Given the description of an element on the screen output the (x, y) to click on. 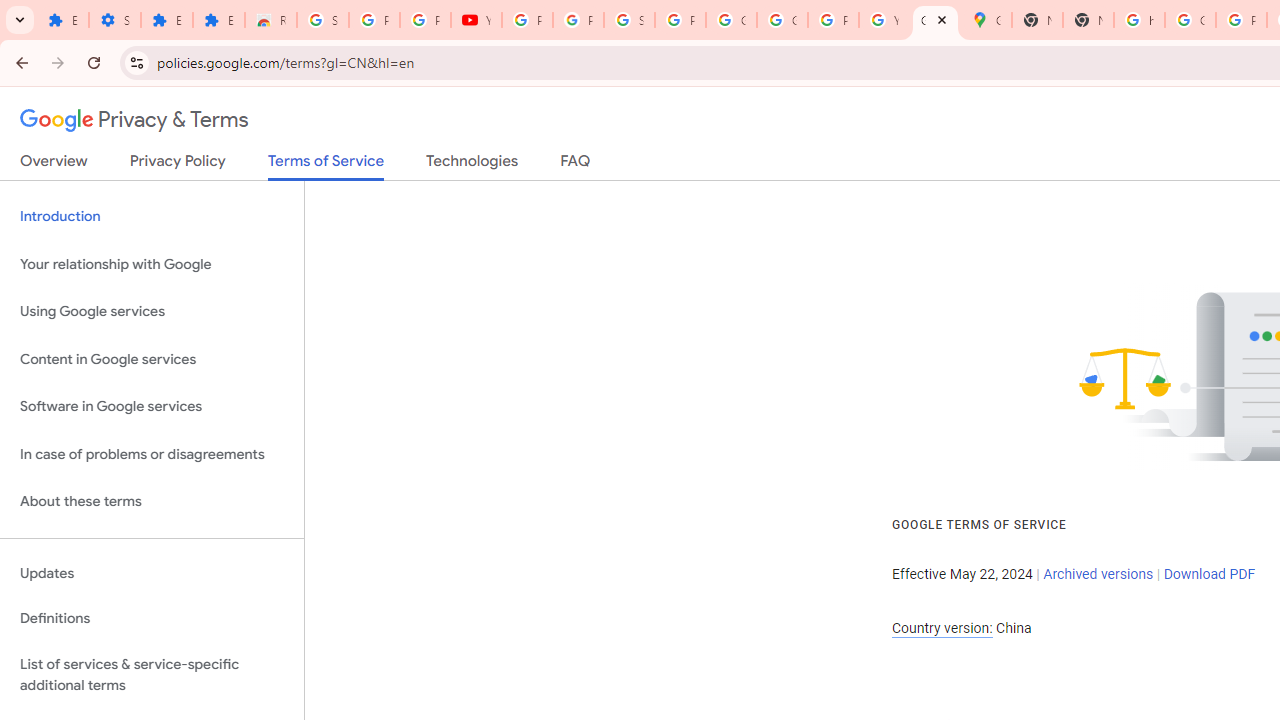
Your relationship with Google (152, 263)
Reviews: Helix Fruit Jump Arcade Game (270, 20)
https://scholar.google.com/ (1138, 20)
About these terms (152, 502)
